Given the description of an element on the screen output the (x, y) to click on. 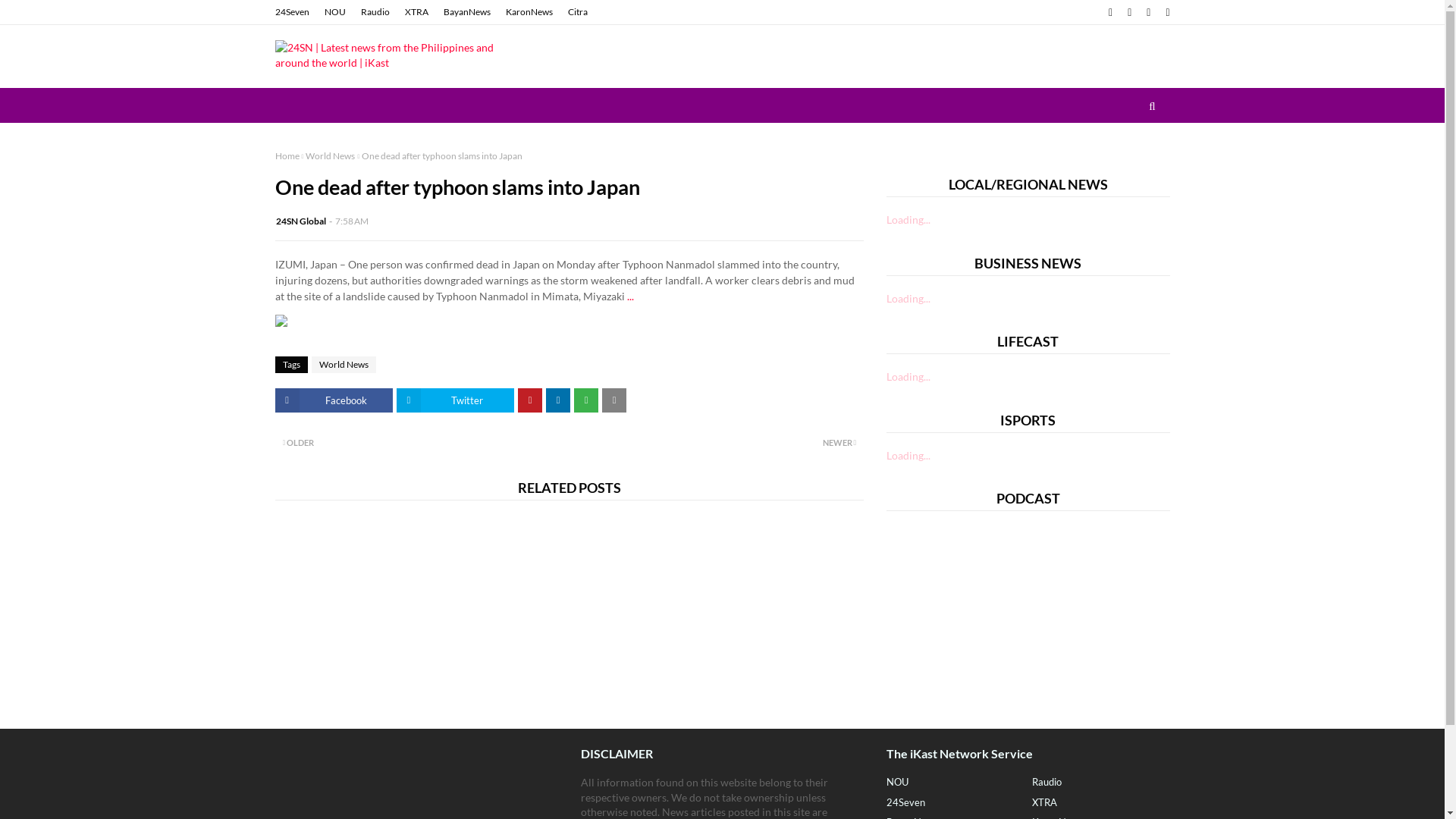
... Element type: text (629, 295)
youtube Element type: hover (1165, 12)
Loading... Element type: text (908, 454)
Loading... Element type: text (908, 219)
Loading... Element type: text (908, 376)
World News Element type: text (329, 155)
BayanNews Element type: text (466, 12)
Citra Element type: text (577, 12)
XTRA Element type: text (1101, 802)
instagram Element type: hover (1148, 12)
24SN Global Element type: text (301, 220)
Raudio Element type: text (1101, 782)
NEWER Element type: text (716, 443)
Loading... Element type: text (908, 297)
facebook Element type: hover (1110, 12)
Home Element type: text (286, 155)
Facebook Element type: text (333, 400)
Twitter Element type: text (455, 400)
twitter Element type: hover (1129, 12)
KaronNews Element type: text (529, 12)
OLDER Element type: text (421, 443)
24Seven Element type: text (293, 12)
World News Element type: text (342, 364)
24Seven Element type: text (955, 802)
NOU Element type: text (955, 782)
Raudio Element type: text (374, 12)
XTRA Element type: text (415, 12)
NOU Element type: text (334, 12)
